Given the description of an element on the screen output the (x, y) to click on. 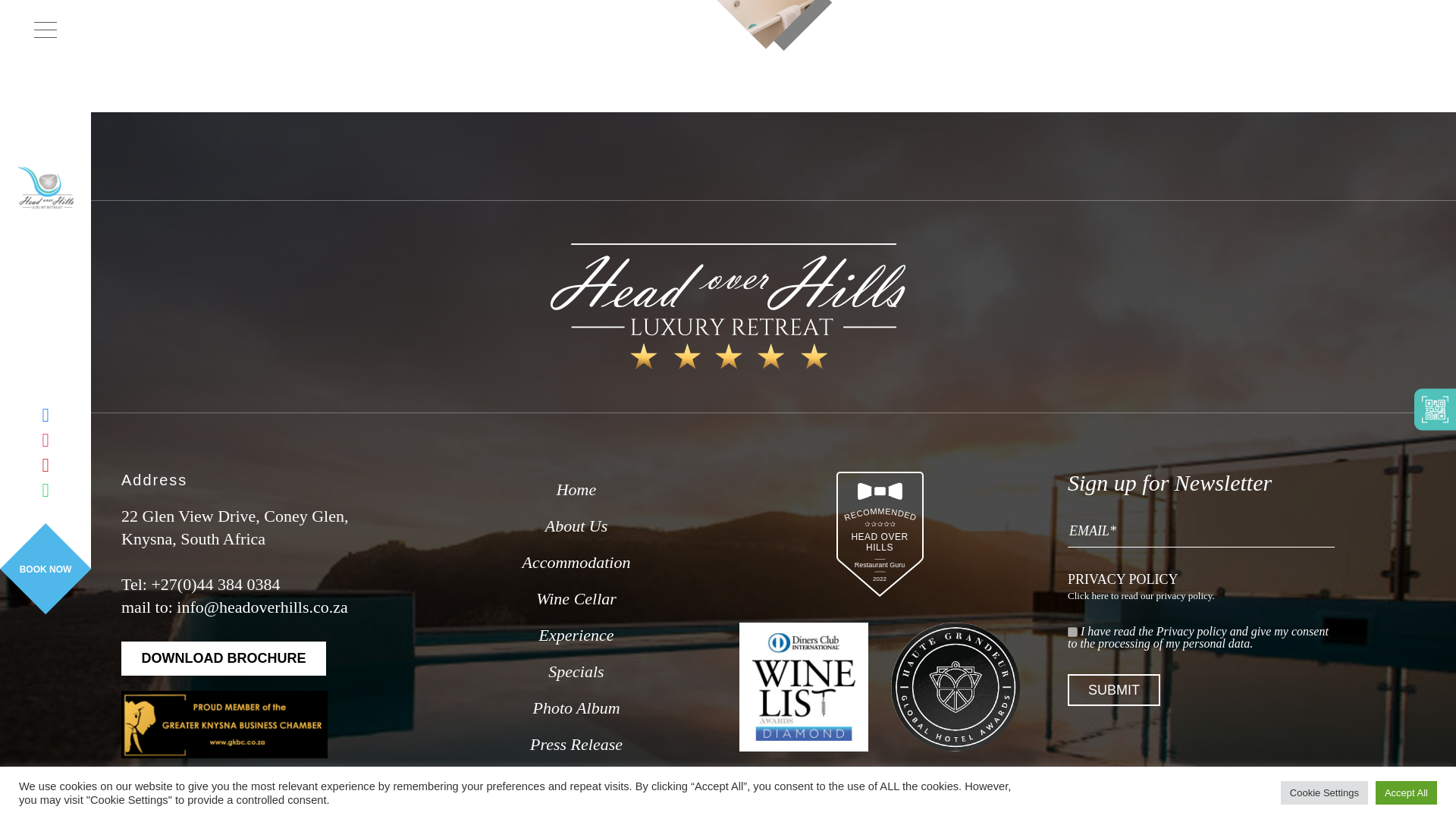
DOWNLOAD BROCHURE (223, 658)
RECOMMENDED (878, 605)
SUBMIT (1113, 689)
Home (576, 489)
Head Over Hills on Youtube (223, 658)
Head Over Hills (727, 306)
